Given the description of an element on the screen output the (x, y) to click on. 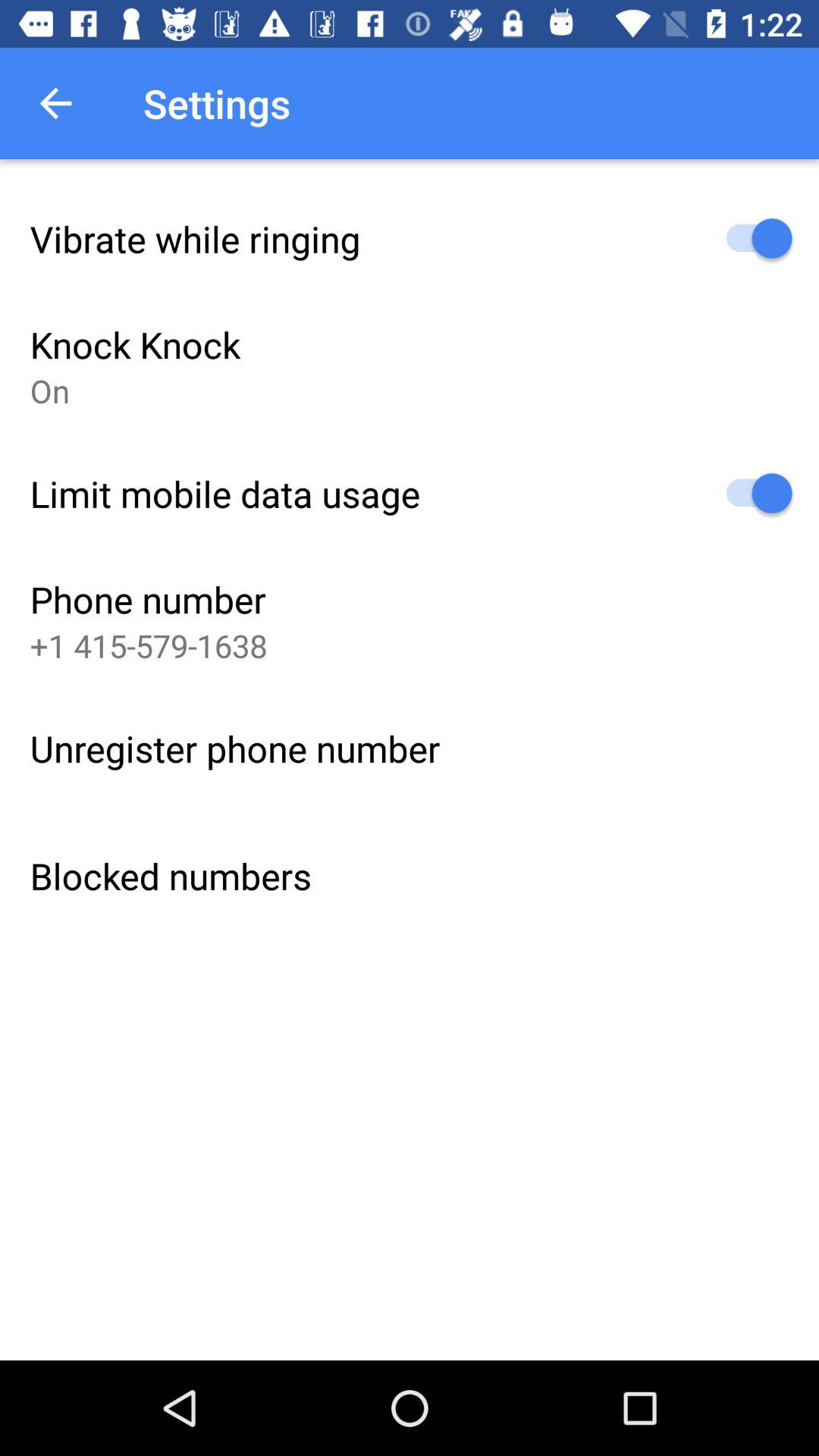
open the vibrate while ringing icon (195, 238)
